Given the description of an element on the screen output the (x, y) to click on. 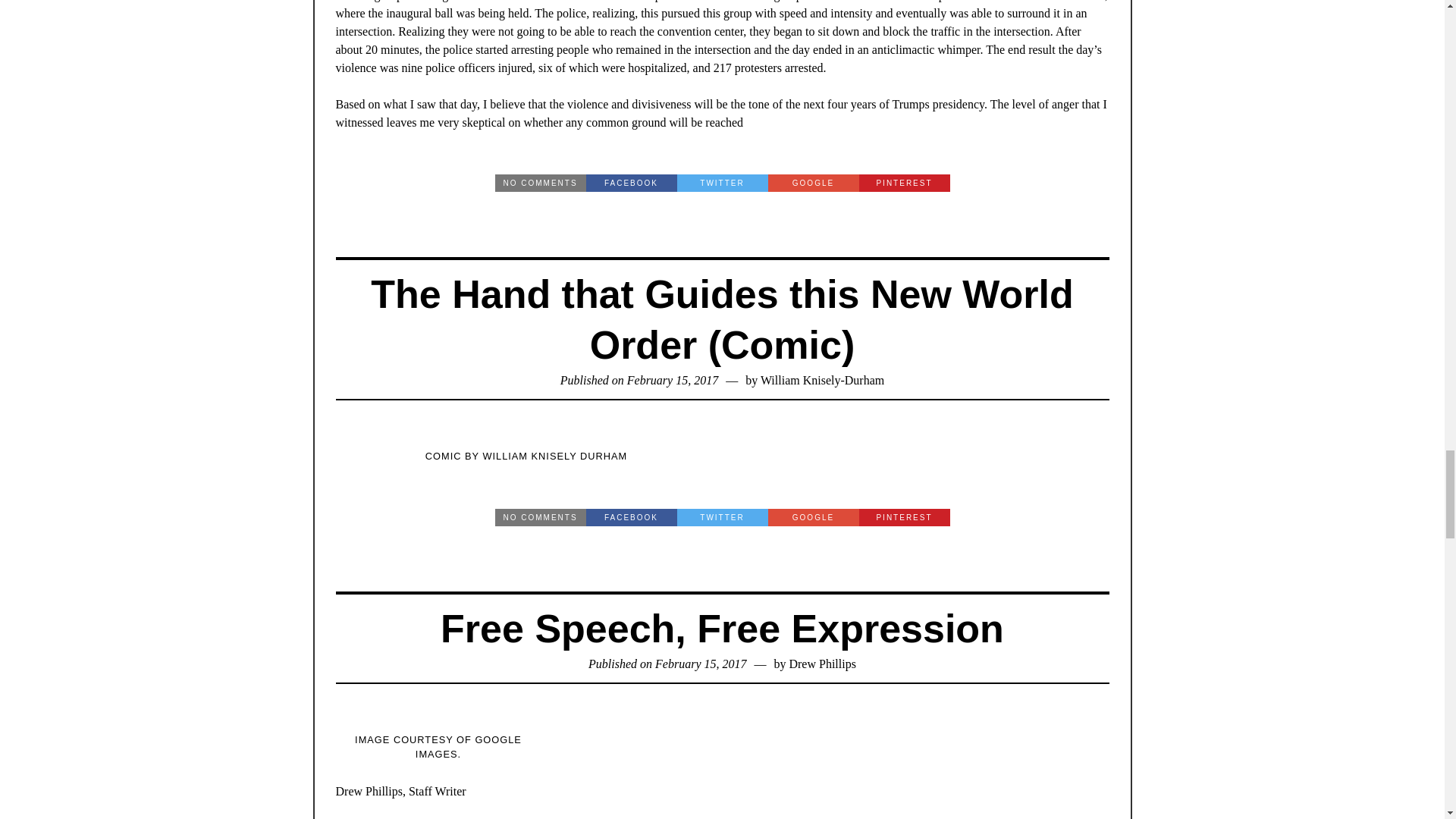
Facebook (631, 517)
Facebook (631, 182)
Twitter (722, 182)
Pinterest (904, 182)
